Given the description of an element on the screen output the (x, y) to click on. 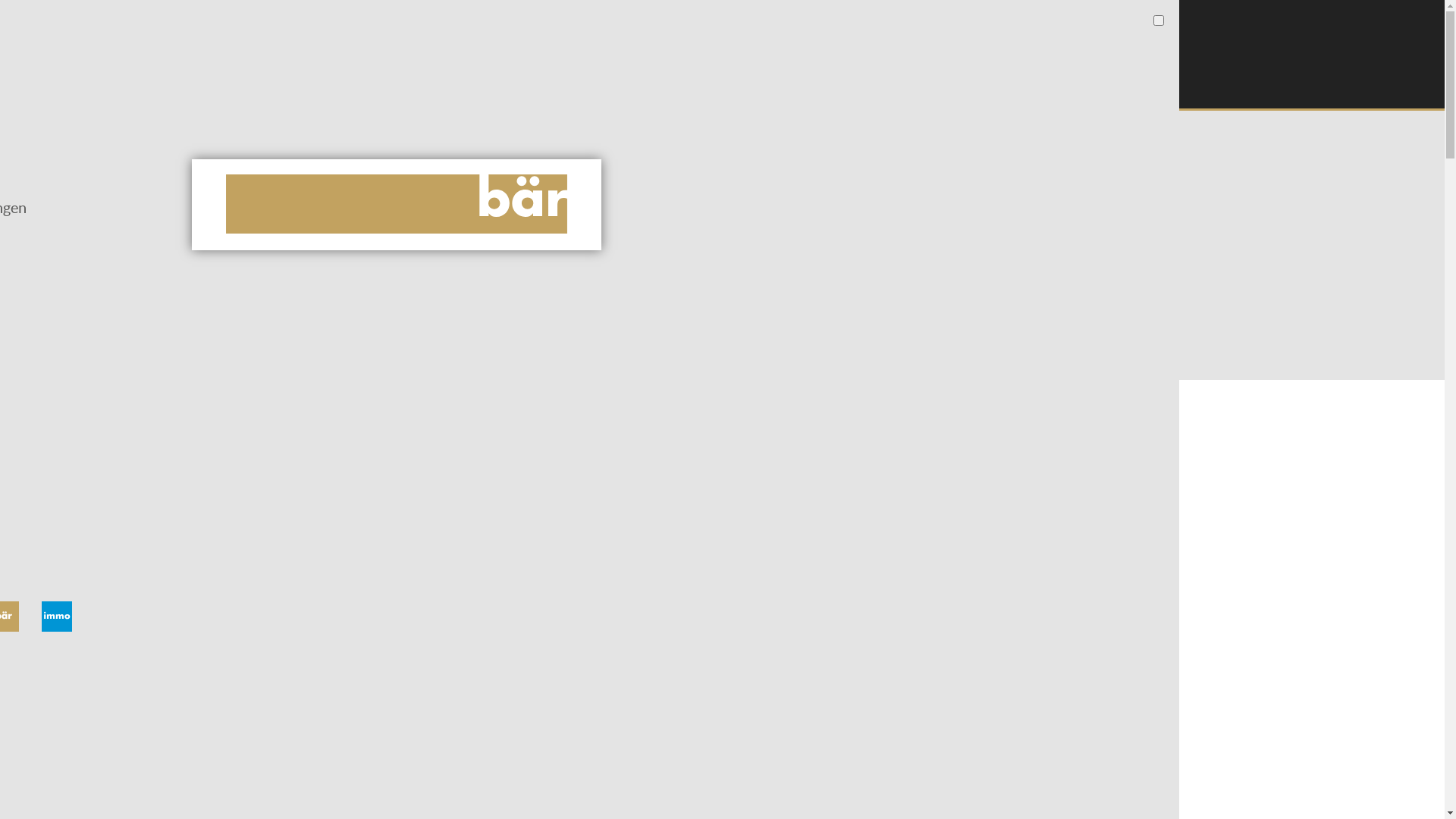
Zertifizierung Element type: text (502, 257)
Organigramm Element type: text (502, 163)
Historische Fassadensanierungen Element type: text (312, 257)
News Element type: text (605, 129)
Lehmputz Element type: text (312, 194)
Firmengeschichte Element type: text (502, 194)
Kontakt Element type: text (680, 129)
Firmenzeitschrift Element type: text (502, 225)
Kundengipserarbeiten Element type: text (312, 163)
Standort Element type: text (680, 194)
Team Element type: text (680, 163)
info@baer-gipser.ch Element type: text (580, 84)
Angebot Element type: text (312, 129)
Trockenbau Element type: text (312, 225)
Home Element type: hover (396, 204)
Intranet Element type: text (690, 84)
062 751 18 46 Element type: text (454, 84)
